Given the description of an element on the screen output the (x, y) to click on. 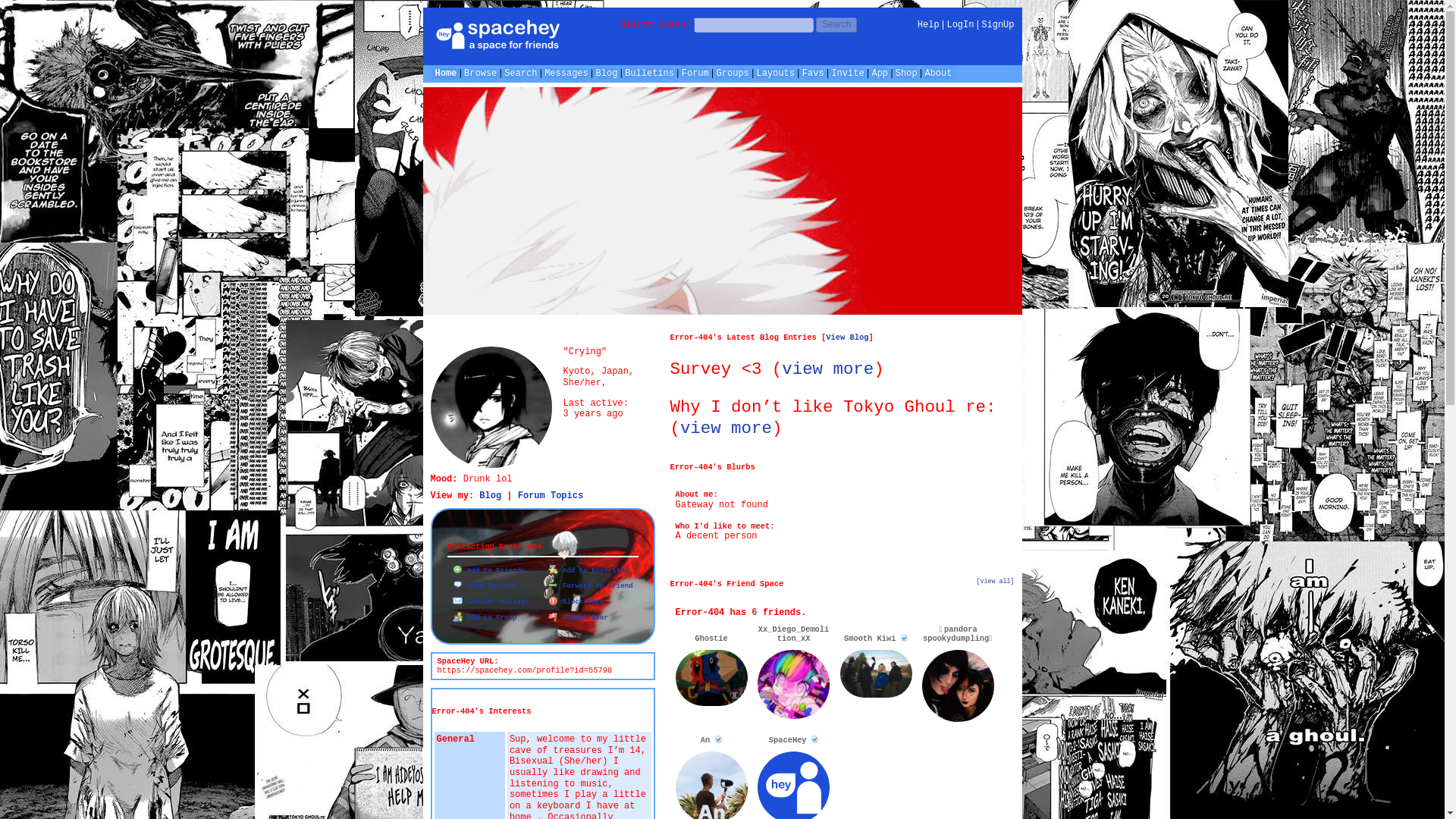
App (879, 72)
View Blog (846, 337)
Blog (606, 72)
Add to Friends (487, 570)
view more (725, 428)
Block User (575, 601)
Home (446, 72)
Search (836, 24)
SpaceHey Mobile (879, 72)
Smooth Kiwi (876, 638)
Messages (566, 72)
Browse (480, 72)
Forum Topics (550, 495)
Favs (813, 72)
LogIn (960, 24)
